Given the description of an element on the screen output the (x, y) to click on. 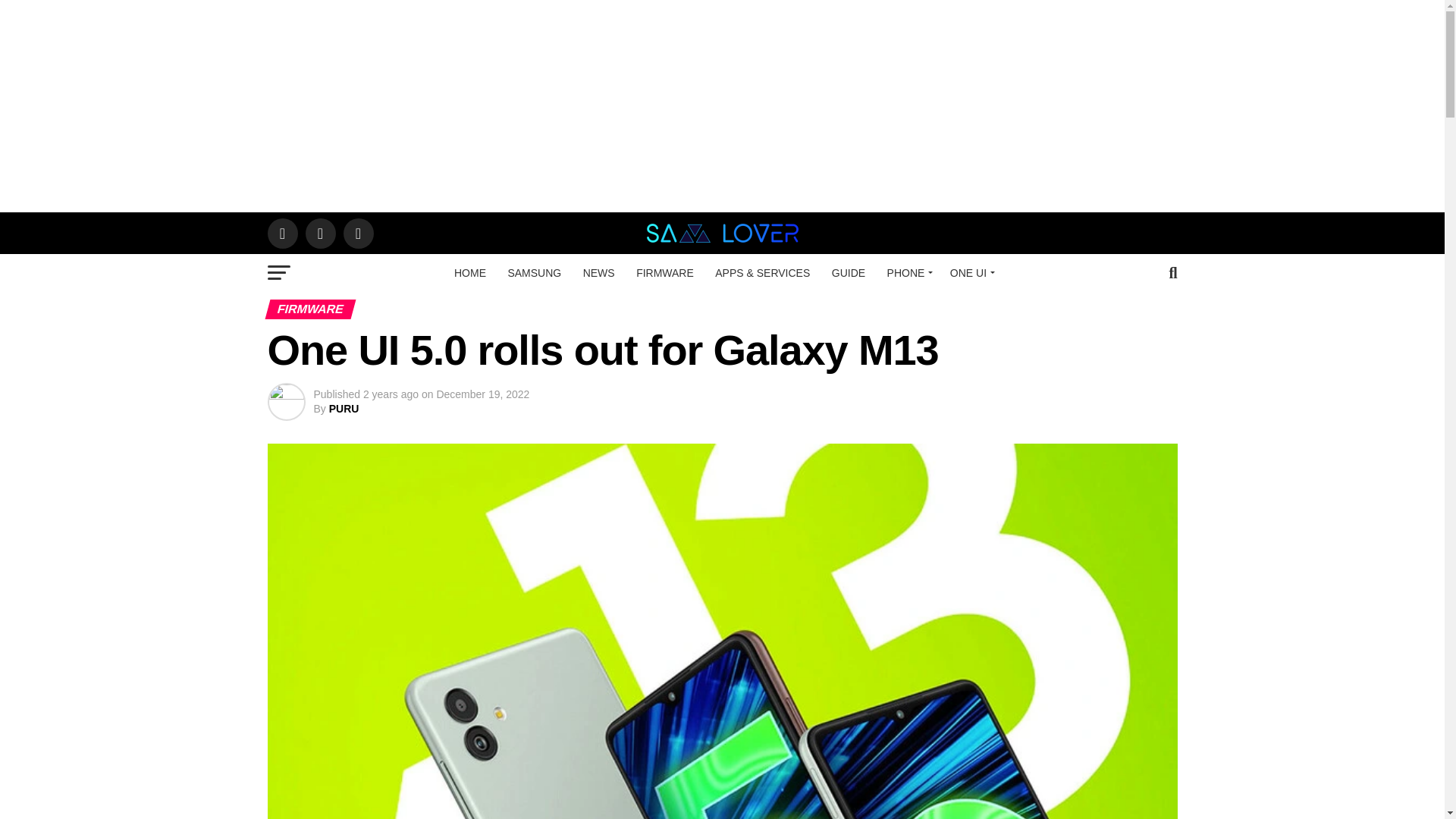
Posts by PURU (344, 408)
FIRMWARE (665, 272)
SAMSUNG (533, 272)
HOME (470, 272)
NEWS (598, 272)
